Given the description of an element on the screen output the (x, y) to click on. 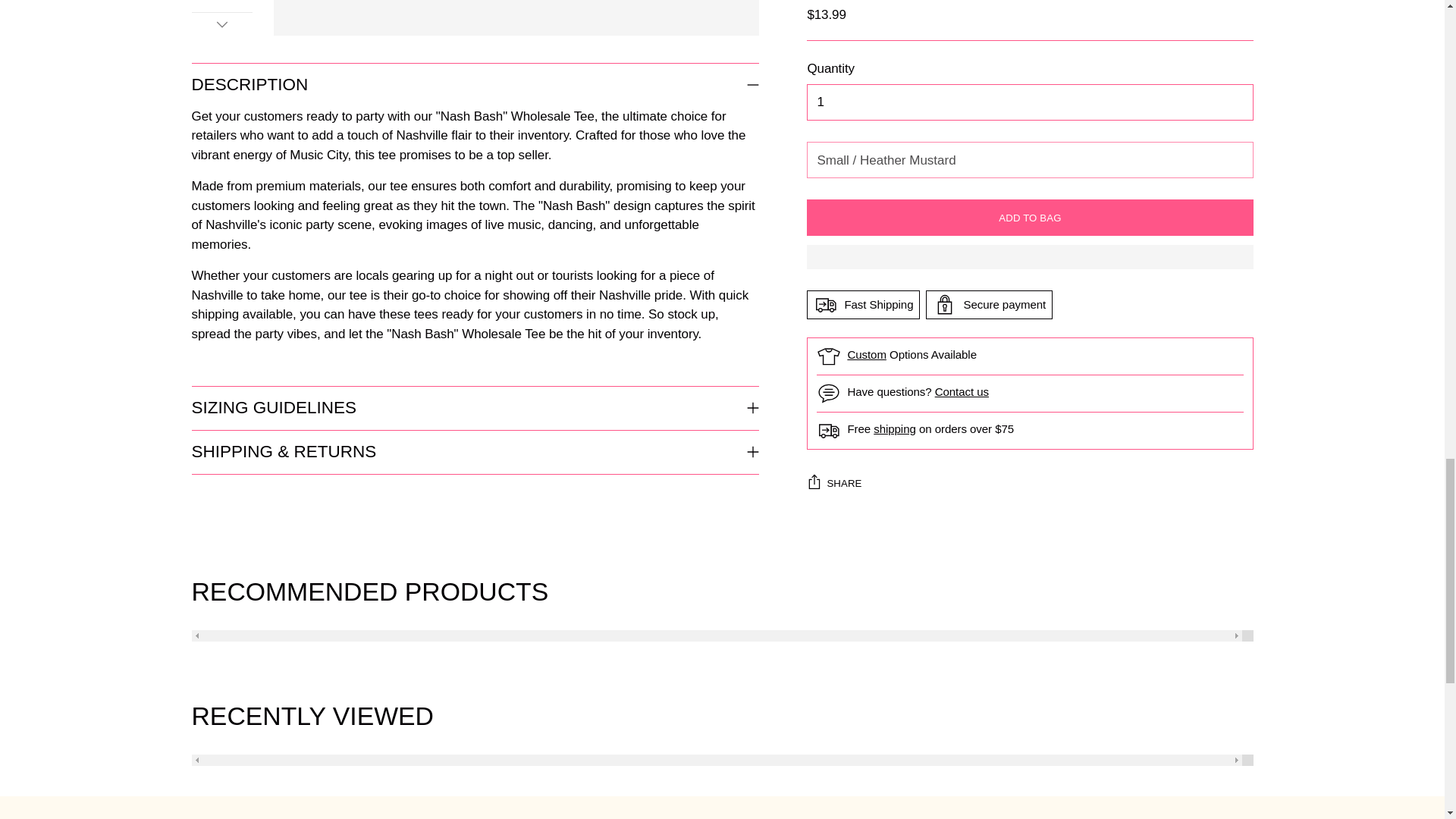
Down (220, 24)
